Given the description of an element on the screen output the (x, y) to click on. 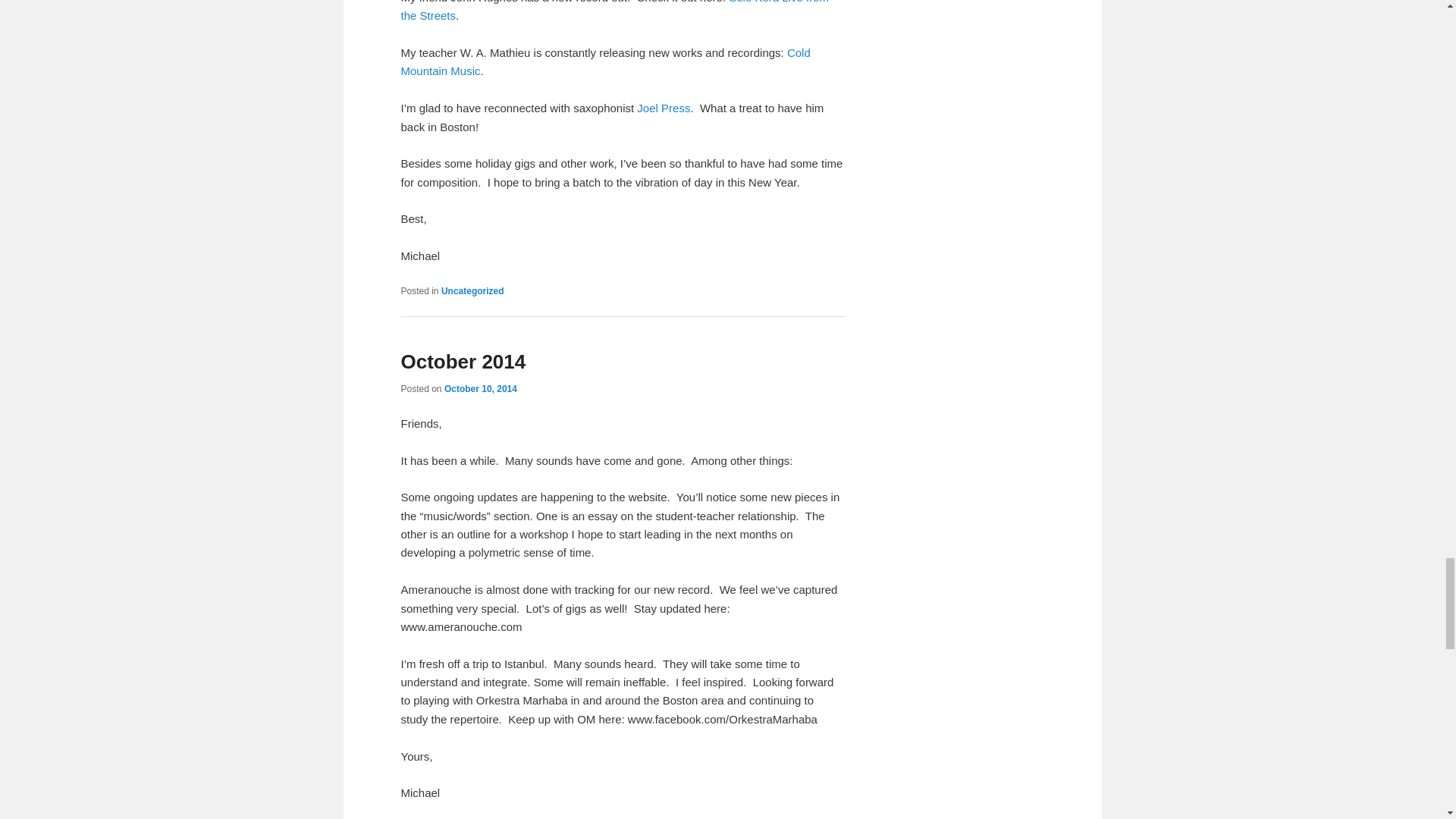
Joel Press (663, 107)
Cold Mountain Music (604, 60)
4:22 AM (480, 388)
